Given the description of an element on the screen output the (x, y) to click on. 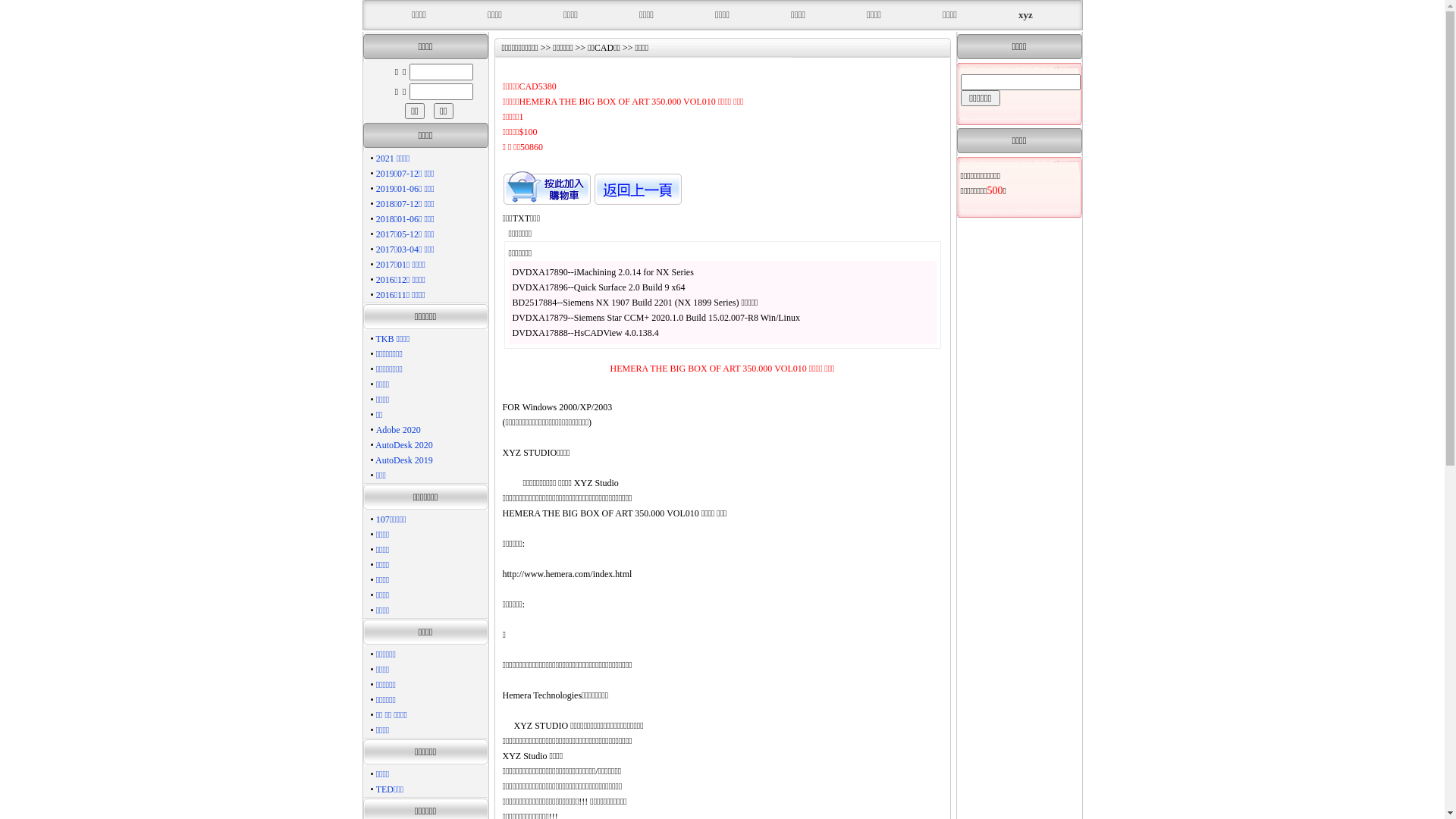
AutoDesk 2019 Element type: text (404, 460)
Adobe 2020 Element type: text (398, 429)
xyz Element type: text (1025, 14)
AutoDesk 2020 Element type: text (404, 444)
